Given the description of an element on the screen output the (x, y) to click on. 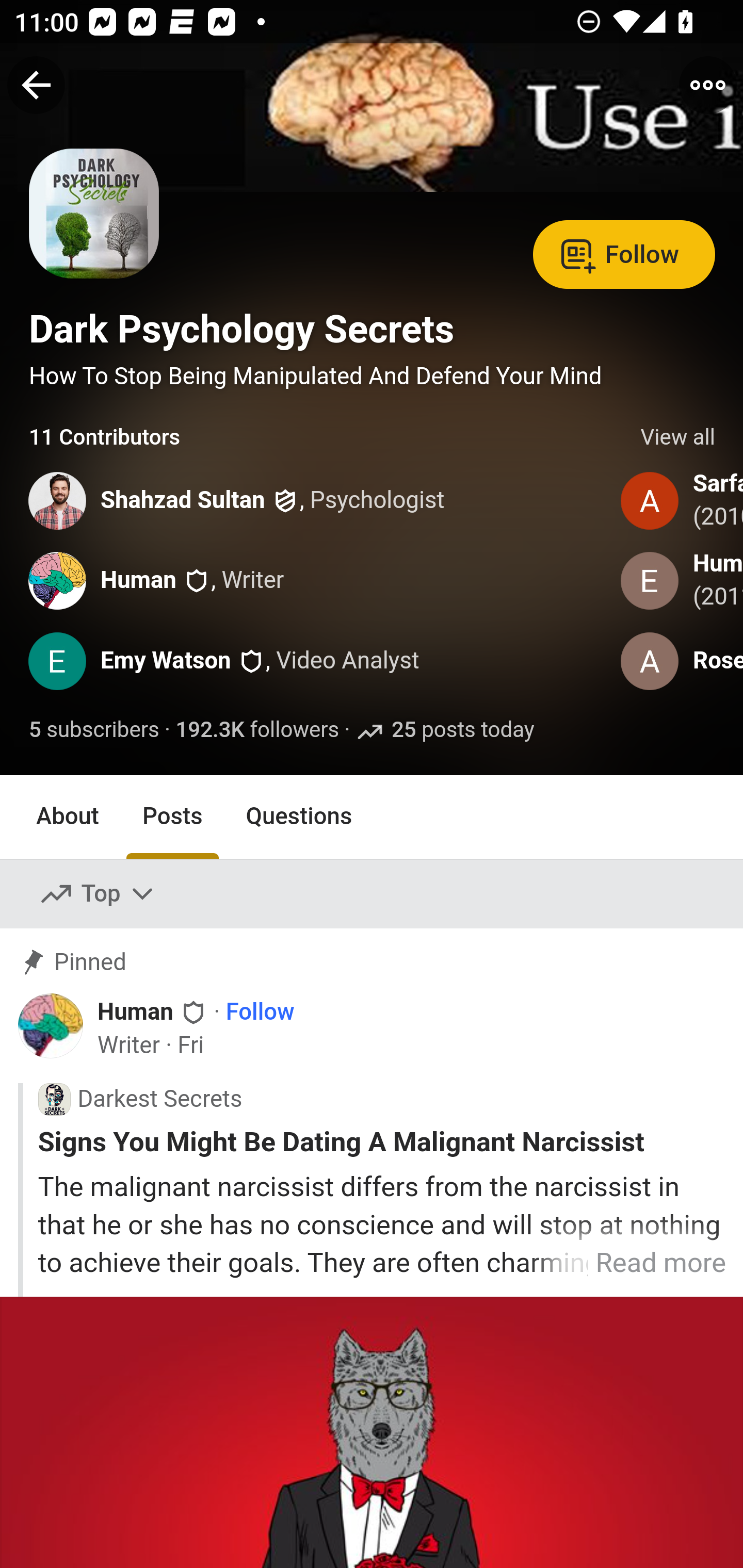
Follow (623, 252)
Dark Psychology Secrets (241, 329)
View all (677, 437)
Profile photo for Shahzad Sultan (56, 499)
Profile photo for Sarfaraz Ali (648, 499)
Shahzad Sultan (181, 500)
Profile photo for Human (56, 579)
Profile photo for Human Being (648, 579)
Human (137, 579)
Profile photo for Emy Watson (56, 661)
Profile photo for Rose (648, 661)
Emy Watson (164, 660)
About (68, 816)
Posts (171, 816)
Questions (299, 816)
Top (97, 894)
Profile photo for Human (50, 1025)
Human Human   (153, 1010)
Follow (259, 1011)
Icon for Darkest Secrets (54, 1099)
Signs You Might Be Dating A Malignant Narcissist (381, 1141)
